Given the description of an element on the screen output the (x, y) to click on. 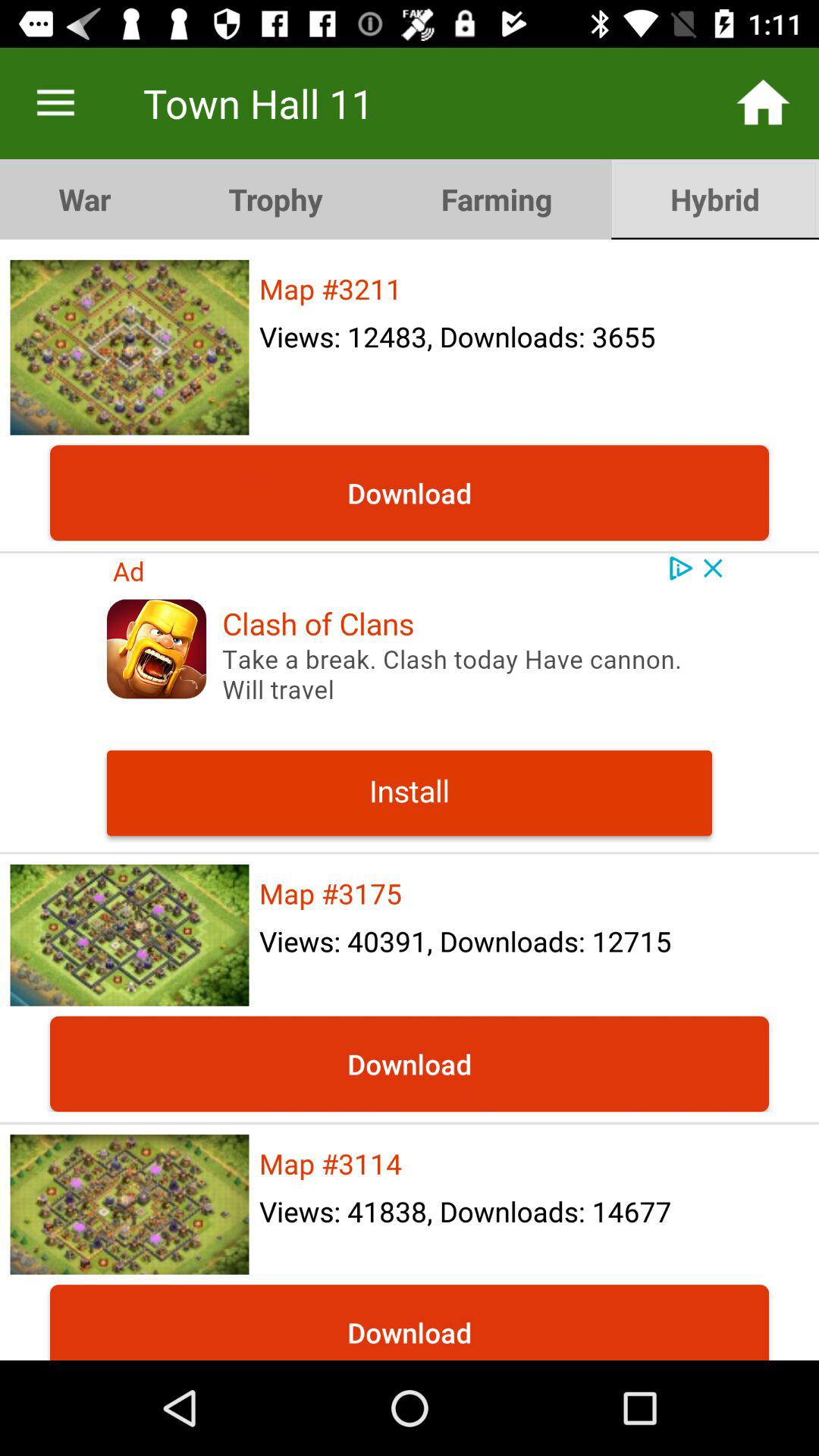
go to main manu (55, 103)
